Given the description of an element on the screen output the (x, y) to click on. 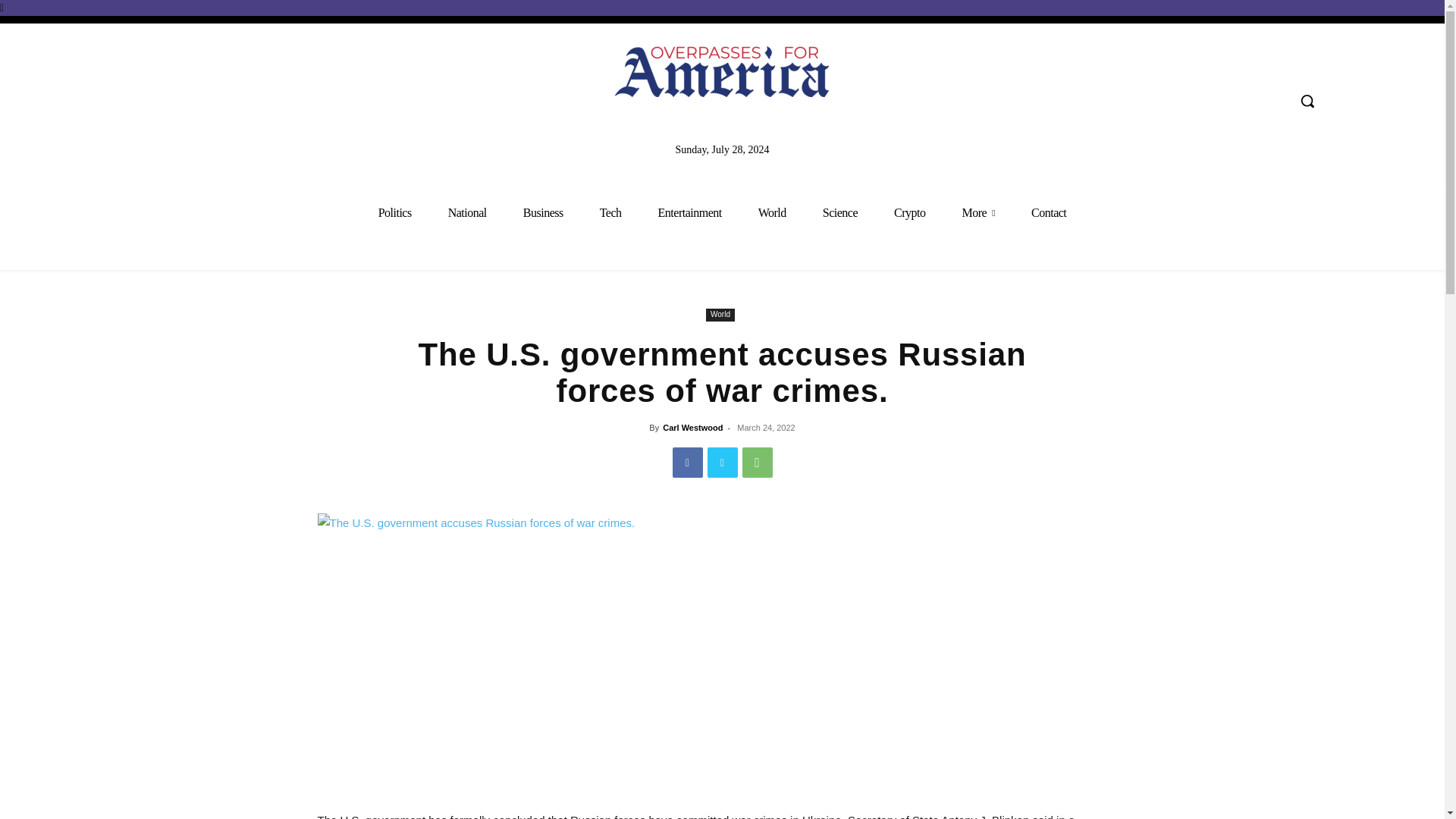
Business (542, 212)
Science (840, 212)
National (467, 212)
Politics (394, 212)
Overpasses for America (721, 71)
Tech (610, 212)
Crypto (909, 212)
Entertainment (689, 212)
Overpasses for America (721, 71)
World (772, 212)
More (978, 212)
